Given the description of an element on the screen output the (x, y) to click on. 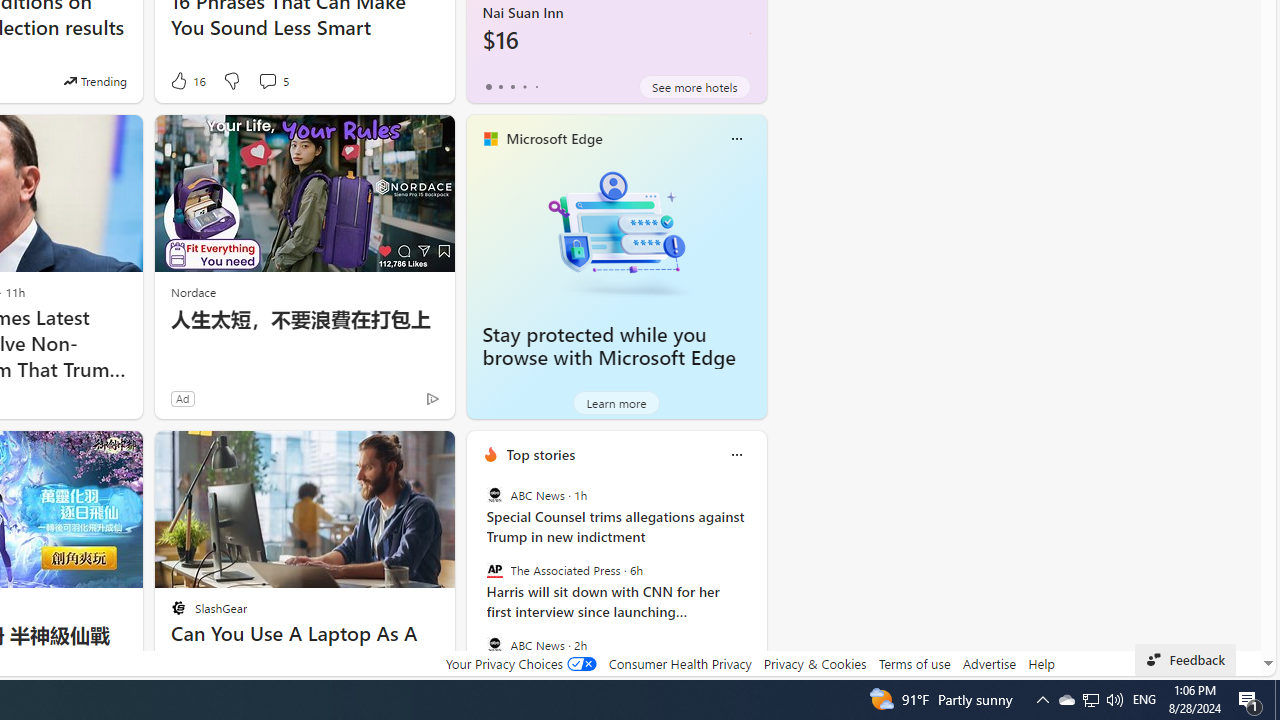
tab-1 (500, 86)
Help (1040, 663)
previous (476, 583)
Microsoft Edge (553, 139)
View comments 5 Comment (267, 80)
tab-3 (524, 86)
Stay protected while you browse with Microsoft Edge (609, 346)
